Given the description of an element on the screen output the (x, y) to click on. 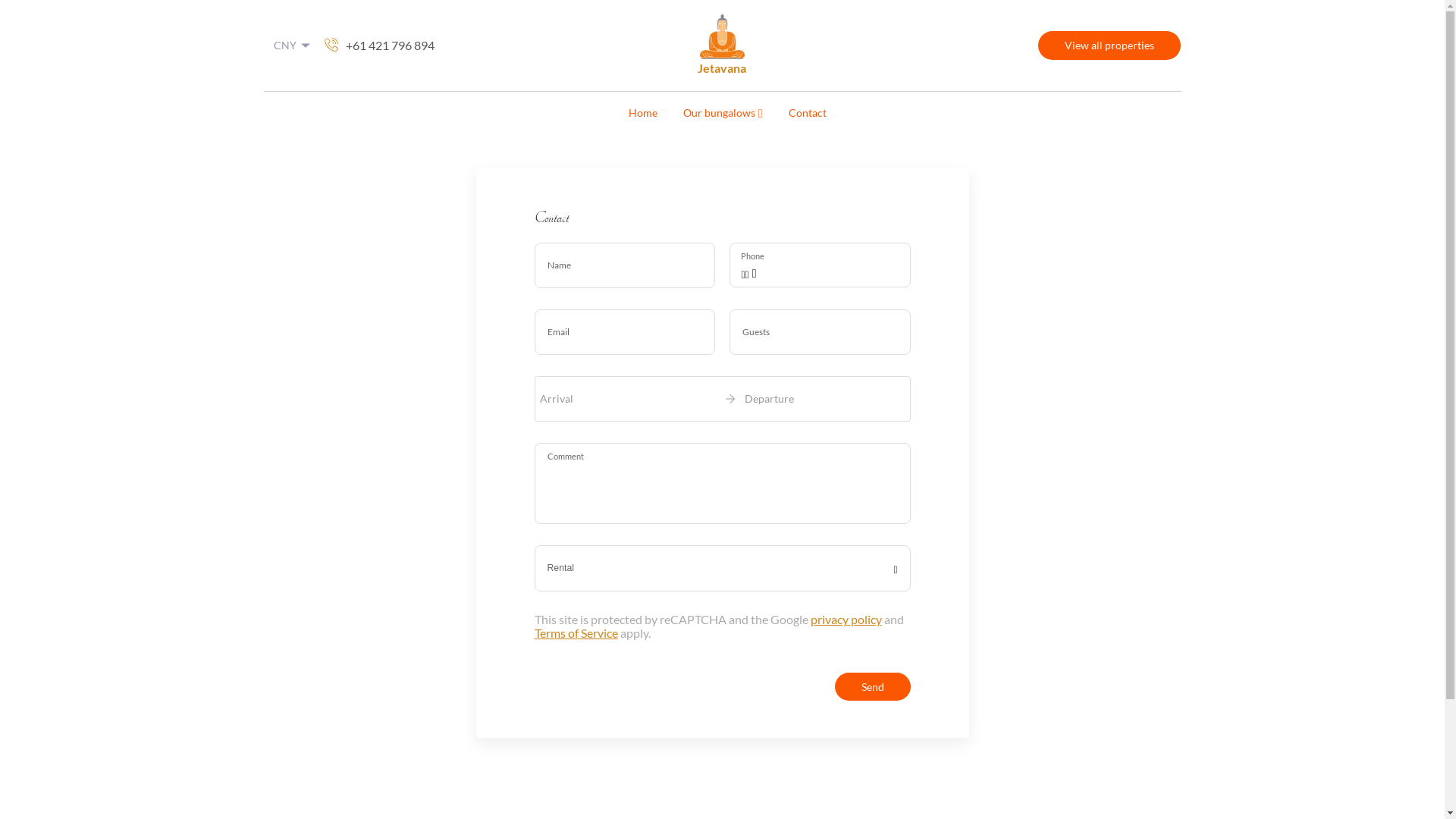
Contact Element type: text (807, 114)
View all properties Element type: text (1109, 45)
Image Title Element type: hover (721, 36)
Arrival
Departure Element type: text (721, 398)
Home Element type: text (642, 114)
Terms of Service Element type: text (575, 632)
privacy policy Element type: text (845, 618)
Send Element type: text (872, 686)
Jetavana Element type: text (722, 45)
CNY Element type: text (292, 45)
+61 421 796 894 Element type: text (378, 45)
